Given the description of an element on the screen output the (x, y) to click on. 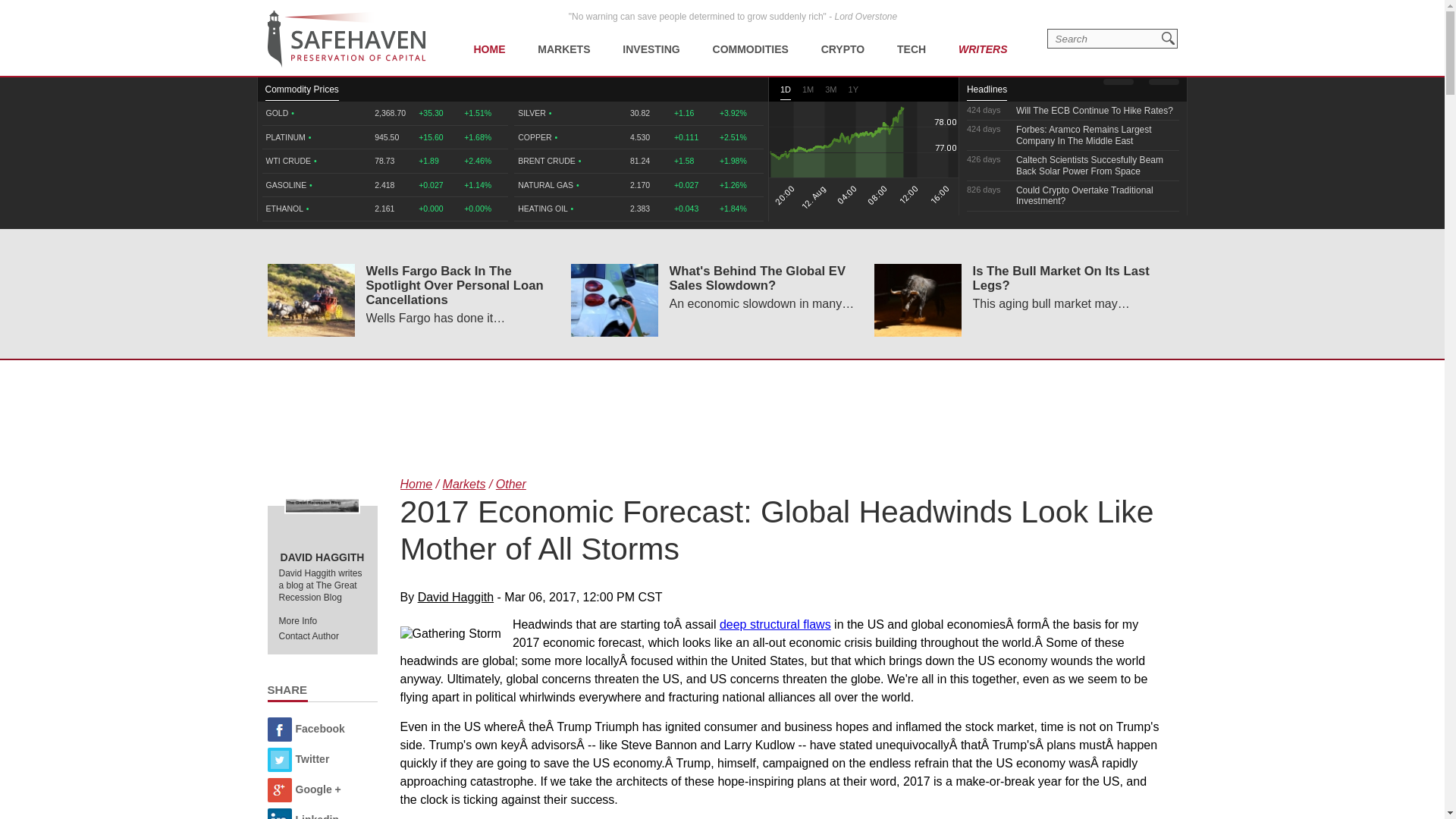
Headlines (986, 92)
COMMODITIES (750, 38)
What's Behind The Global EV Sales Slowdown? (614, 299)
Oil prices - Oilprice.com (345, 38)
Is The Bull Market On Its Last Legs? (916, 299)
David Haggith (321, 505)
INVESTING (650, 38)
Commodity Prices (301, 92)
